Given the description of an element on the screen output the (x, y) to click on. 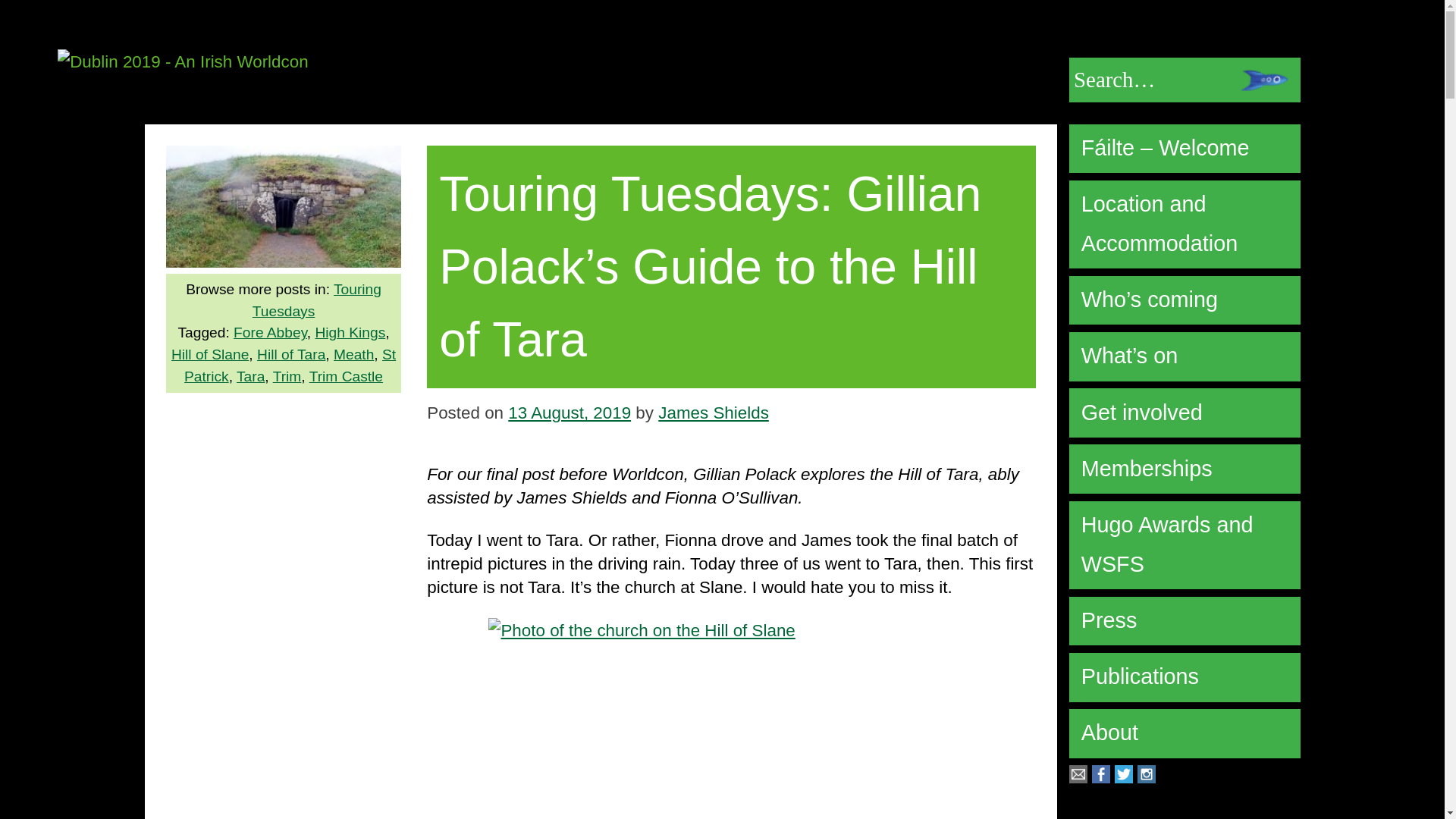
Facebook (1100, 777)
Location and Accommodation (1184, 224)
Twitter (1123, 777)
Email (1077, 777)
Instagram (1146, 777)
